Given the description of an element on the screen output the (x, y) to click on. 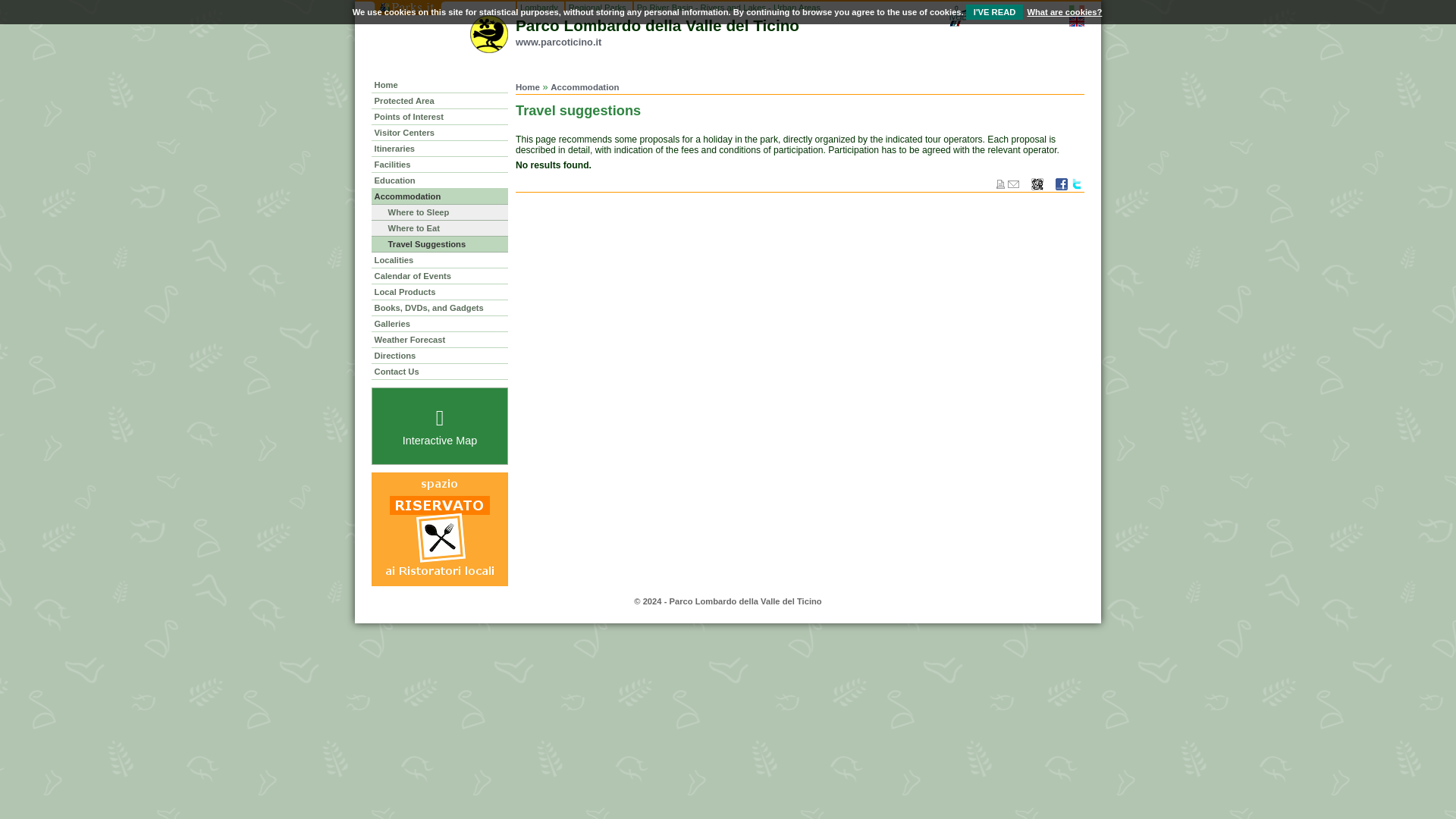
Calendar of Events (439, 275)
Local Products (439, 291)
Home (527, 86)
Versione Italiana (1076, 9)
Where to Sleep (439, 212)
Share this page on Twitter (1076, 187)
Localities (439, 259)
Contact Us (439, 371)
Education (439, 180)
